Given the description of an element on the screen output the (x, y) to click on. 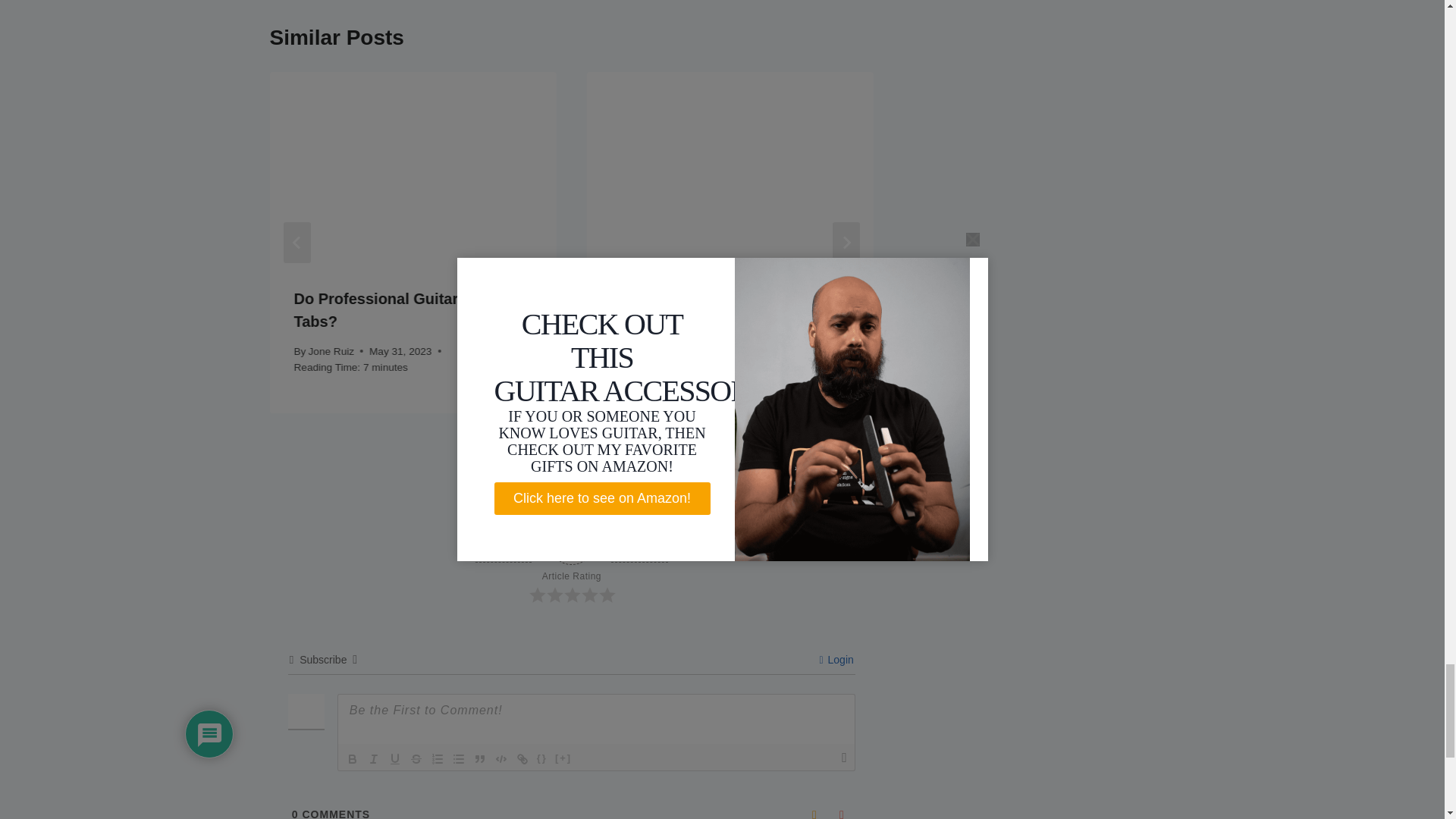
Blockquote (479, 759)
Underline (395, 759)
Code Block (501, 759)
Strike (416, 759)
Bold (352, 759)
Italic (373, 759)
Unordered List (458, 759)
Ordered List (437, 759)
Link (522, 759)
